Given the description of an element on the screen output the (x, y) to click on. 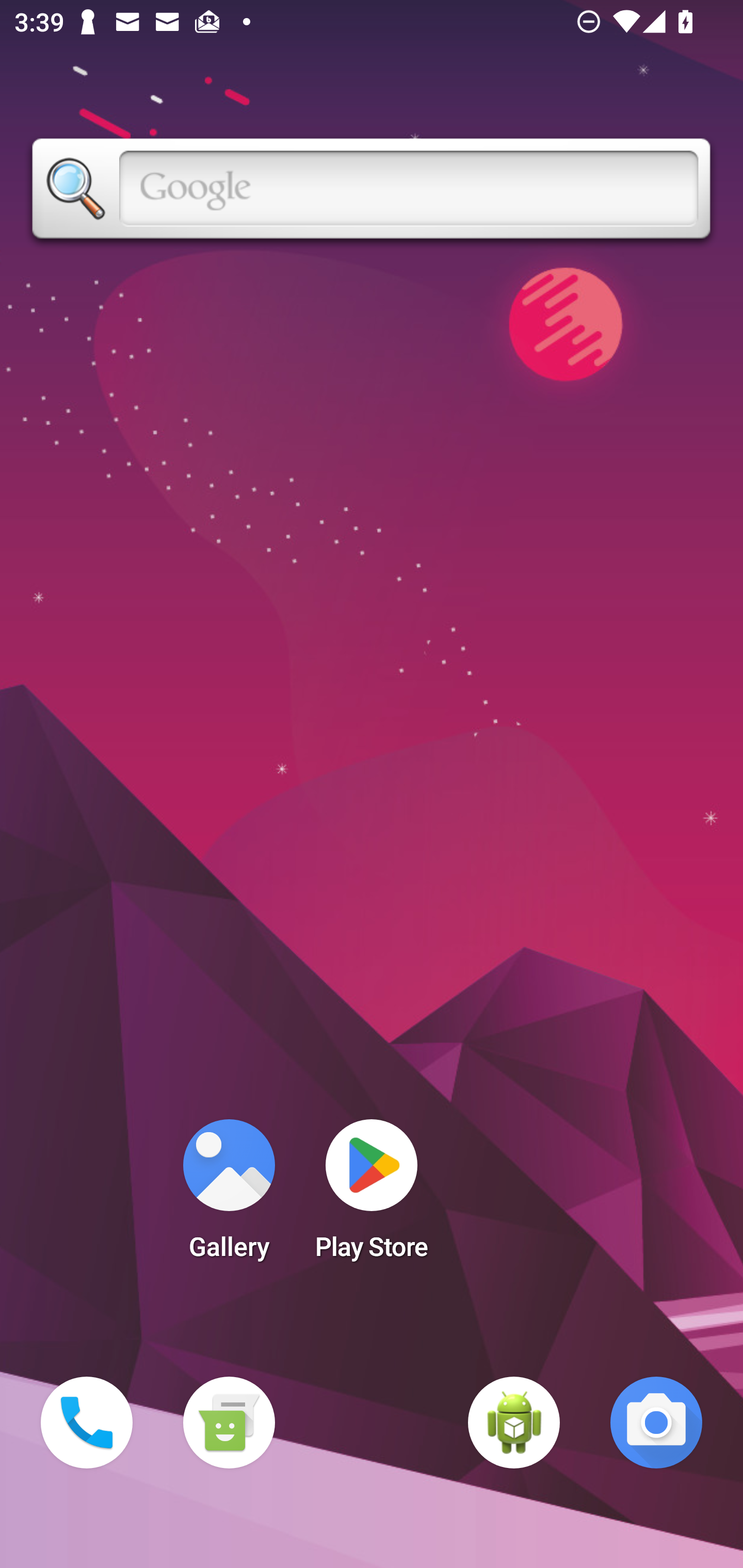
Gallery (228, 1195)
Play Store (371, 1195)
Phone (86, 1422)
Messaging (228, 1422)
WebView Browser Tester (513, 1422)
Camera (656, 1422)
